Given the description of an element on the screen output the (x, y) to click on. 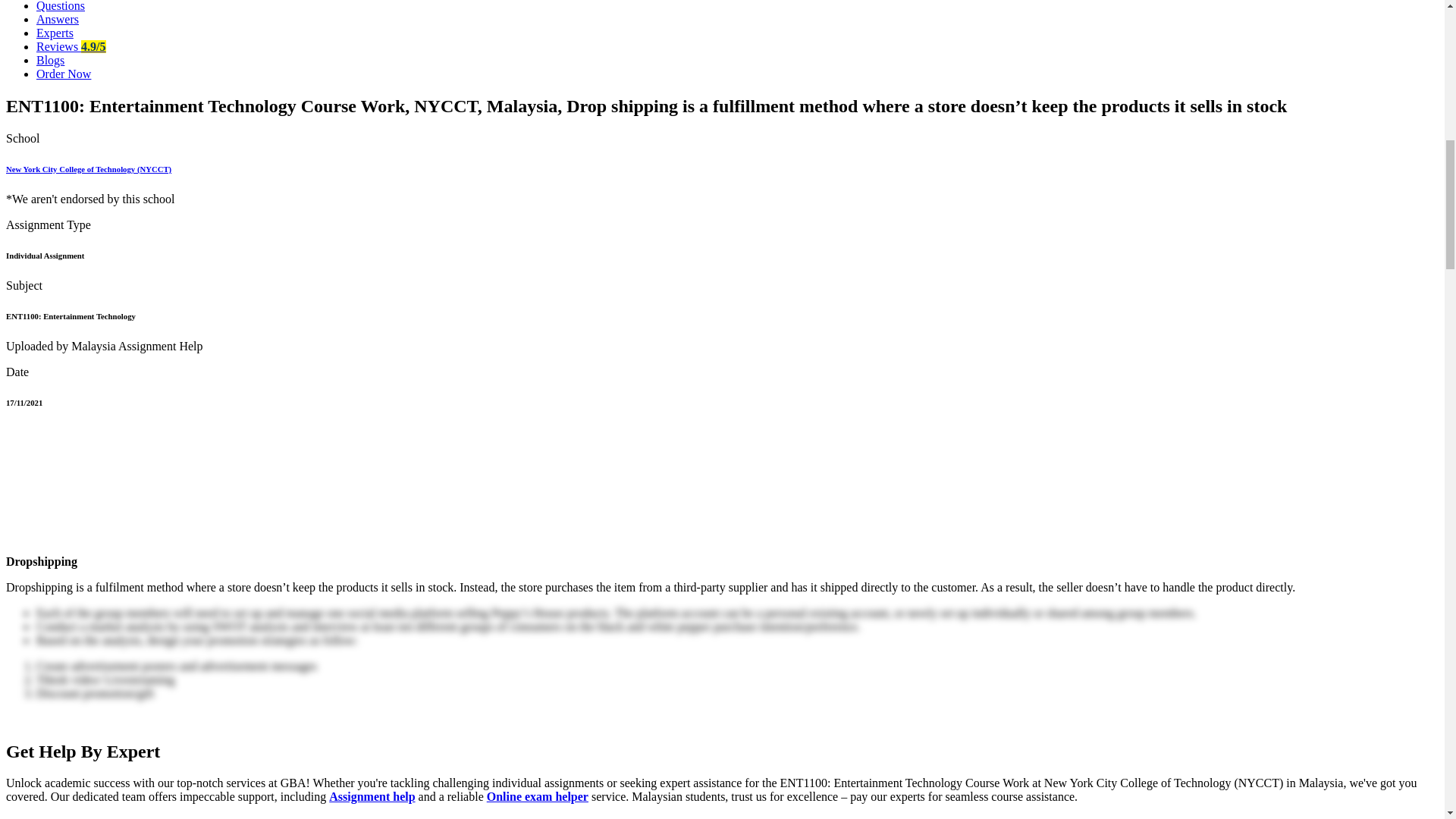
Answers (57, 19)
Online exam helper (537, 796)
Blogs (50, 60)
Questions (60, 6)
Assignment help (371, 796)
Order Now (63, 73)
Experts (55, 32)
